Given the description of an element on the screen output the (x, y) to click on. 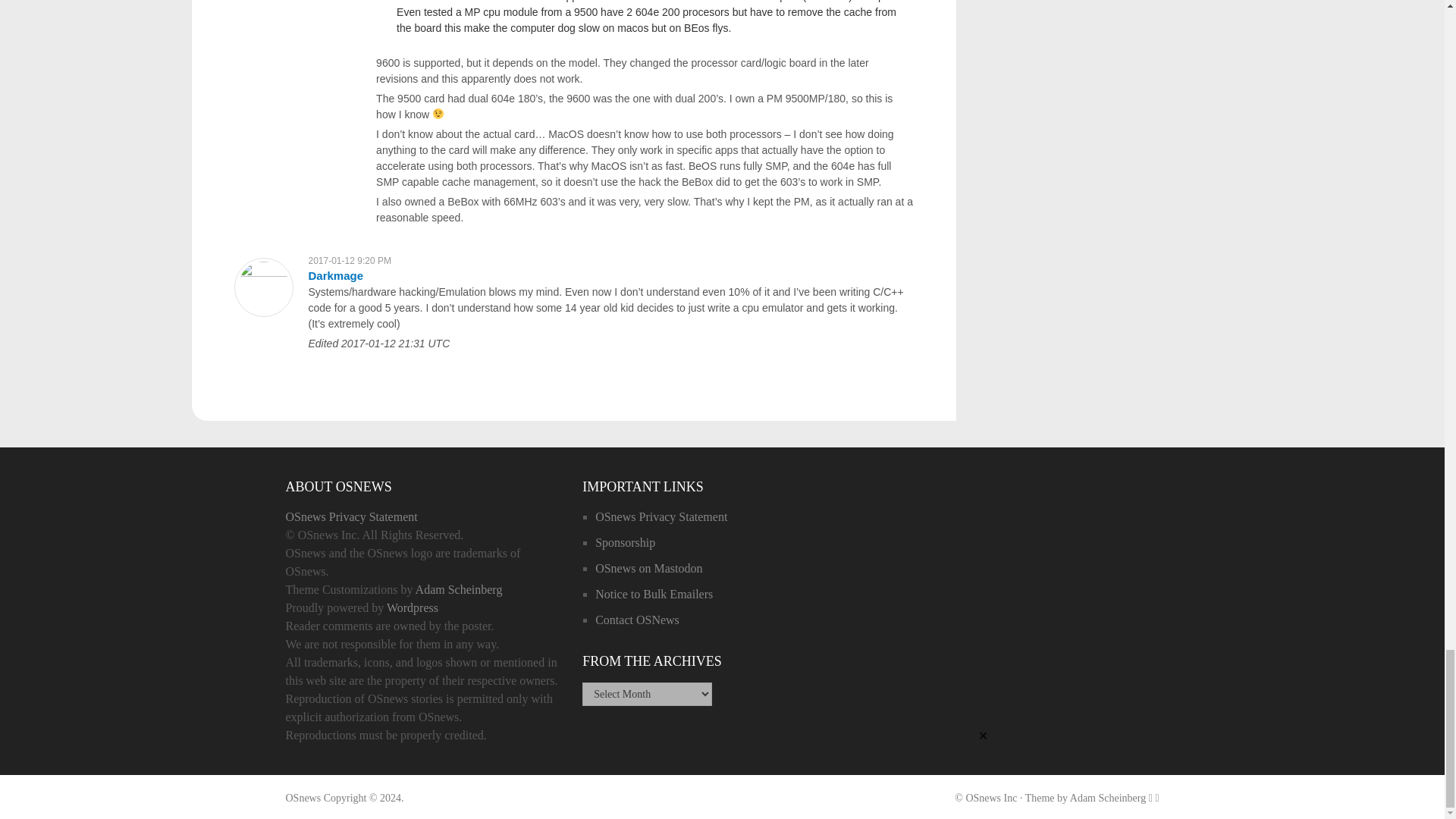
Exploring the Future of Computing (302, 797)
